Given the description of an element on the screen output the (x, y) to click on. 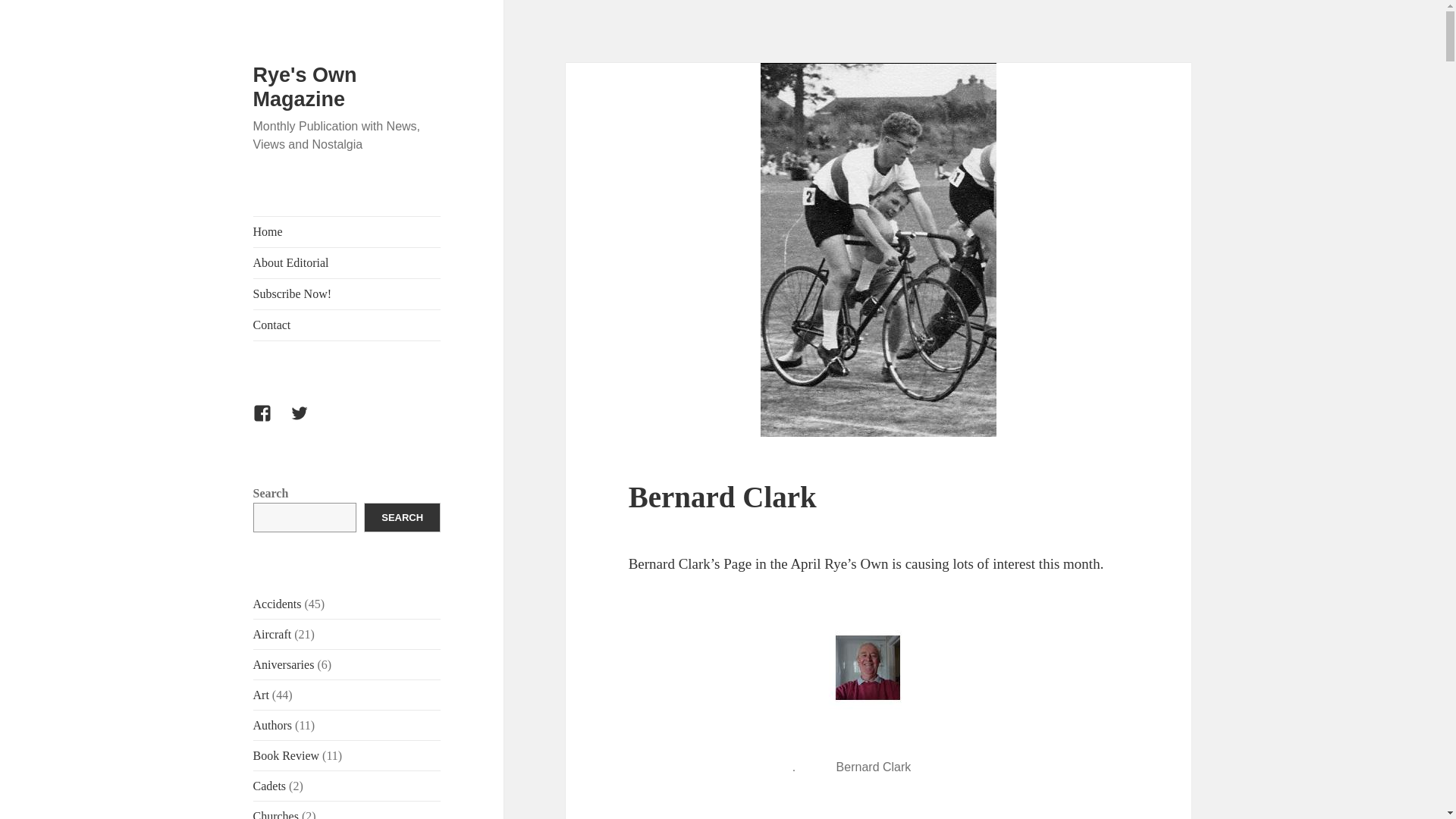
Subscribe Now! (347, 294)
Twitter (307, 422)
Contact (347, 325)
Cadets (269, 785)
Accidents (277, 603)
Rye's Own Magazine (304, 86)
SEARCH (402, 517)
Art (261, 694)
About Editorial (347, 263)
Churches (275, 814)
